Given the description of an element on the screen output the (x, y) to click on. 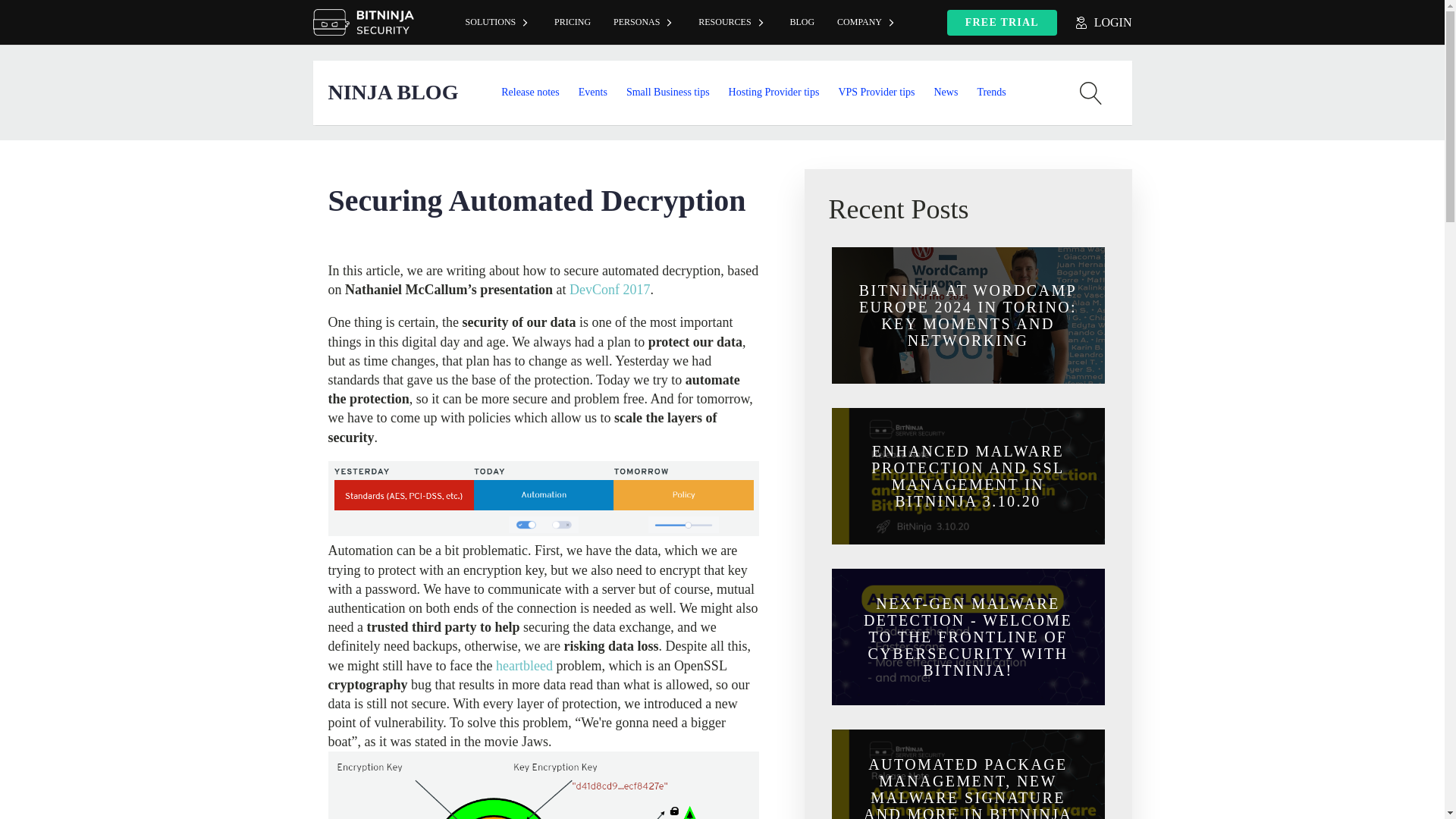
PRICING (572, 22)
BLOG (801, 22)
PERSONAS (644, 22)
SOLUTIONS (498, 22)
COMPANY (866, 22)
RESOURCES (732, 22)
